Given the description of an element on the screen output the (x, y) to click on. 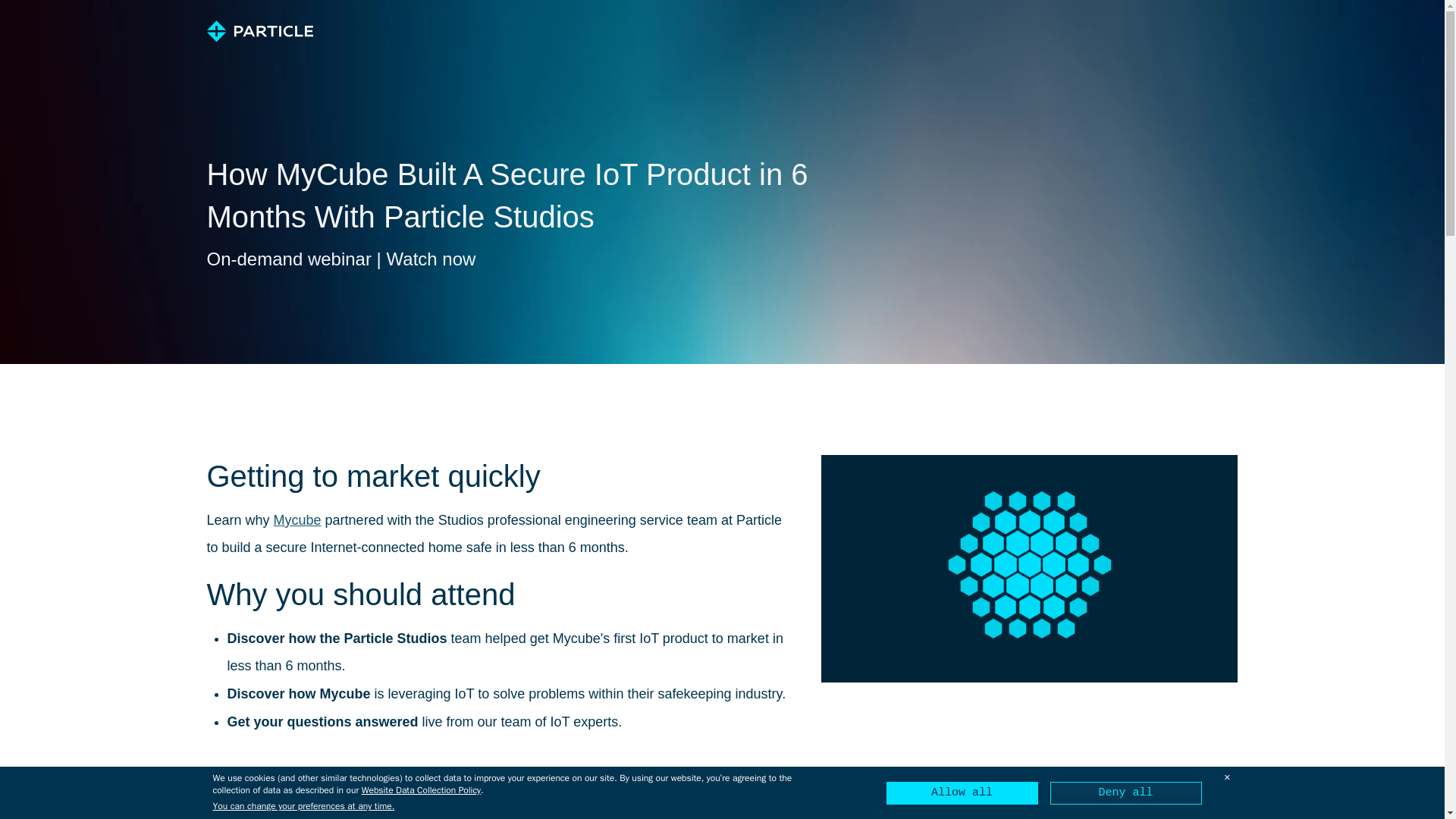
You can change your preferences at any time. (303, 806)
Allow all (960, 793)
Mycube (297, 519)
Deny all (1125, 793)
Close (1227, 777)
Website Data Collection Policy (420, 789)
